Given the description of an element on the screen output the (x, y) to click on. 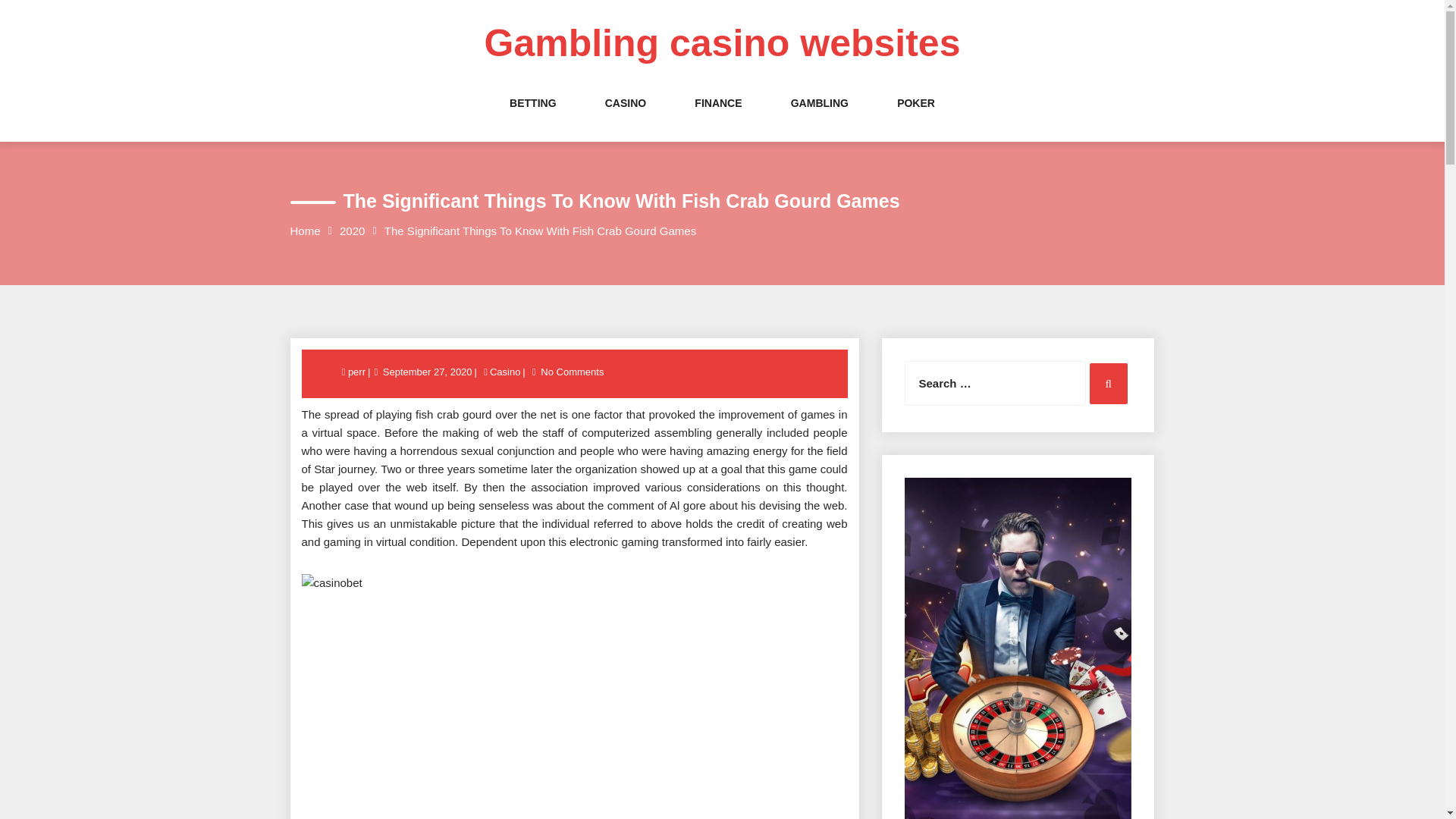
perr (357, 371)
BETTING (532, 118)
2020 (352, 230)
September 27, 2020 (427, 371)
CASINO (625, 118)
Gambling casino websites (722, 43)
No Comments (571, 371)
Home (304, 230)
FINANCE (717, 118)
Casino (504, 371)
